Given the description of an element on the screen output the (x, y) to click on. 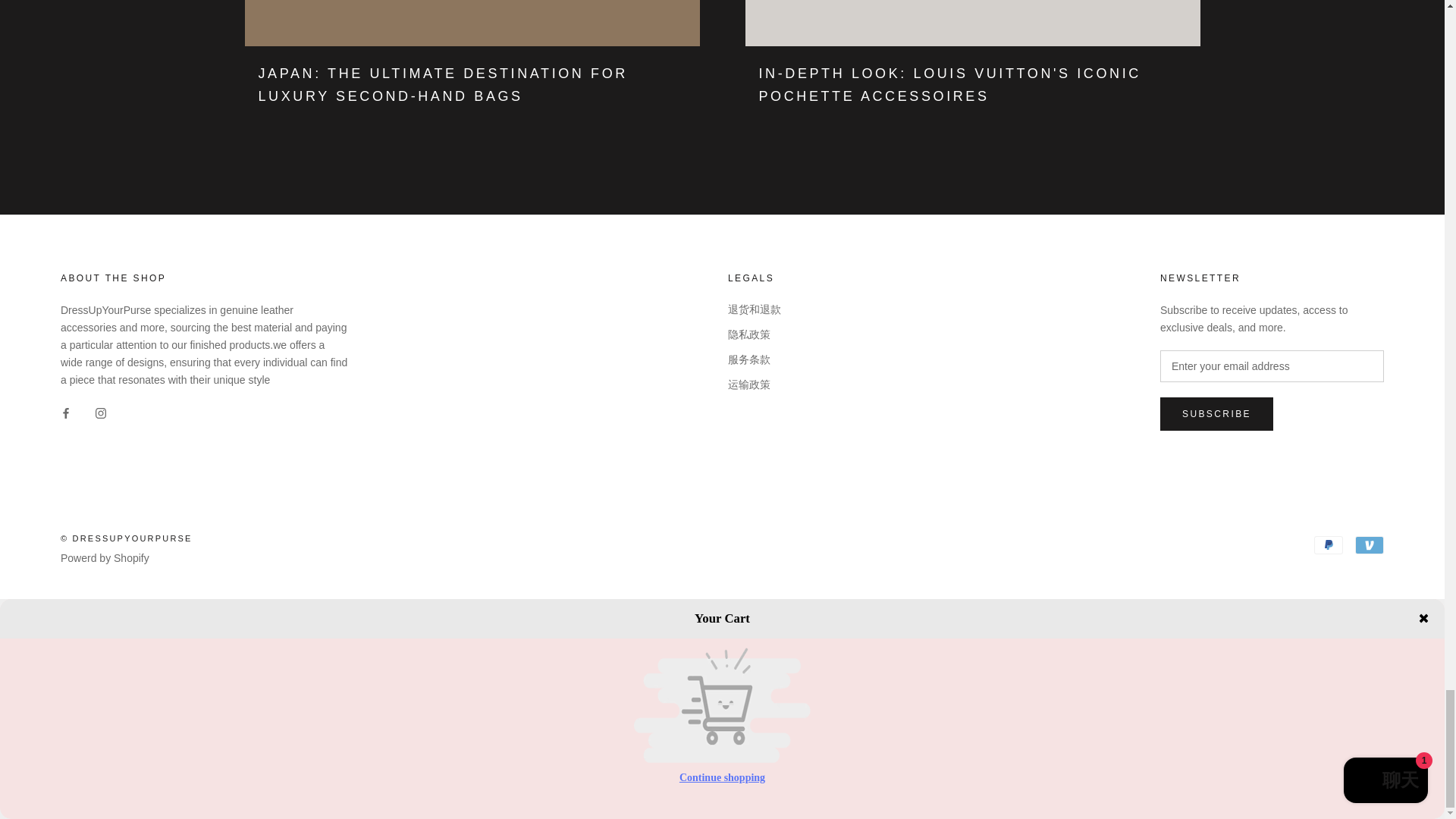
IN-DEPTH LOOK: LOUIS VUITTON'S ICONIC POCHETTE ACCESSOIRES (949, 85)
PayPal (1328, 545)
JAPAN: THE ULTIMATE DESTINATION FOR LUXURY SECOND-HAND BAGS (442, 85)
Venmo (1369, 545)
